Given the description of an element on the screen output the (x, y) to click on. 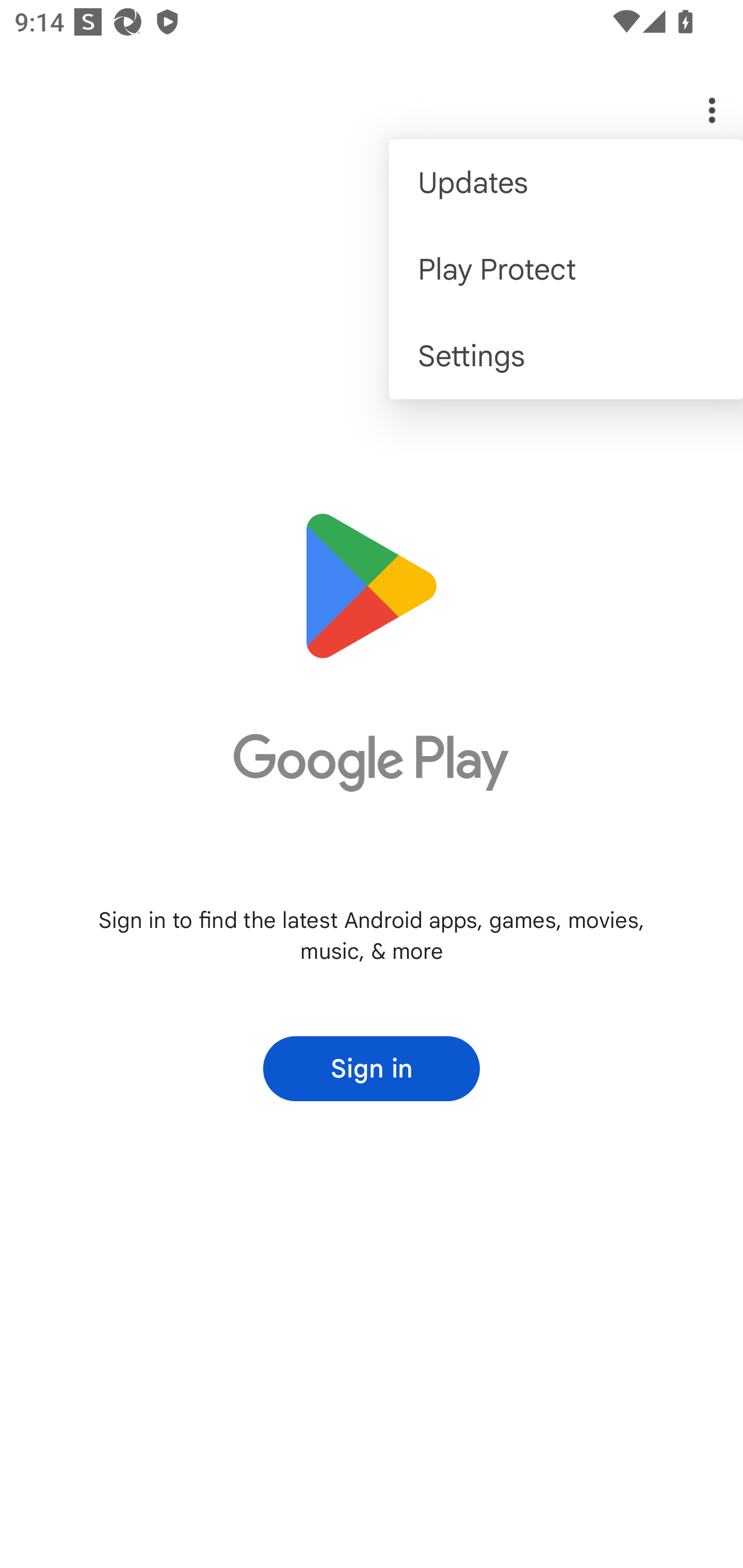
Updates (566, 182)
Play Protect (566, 268)
Settings (566, 355)
